Given the description of an element on the screen output the (x, y) to click on. 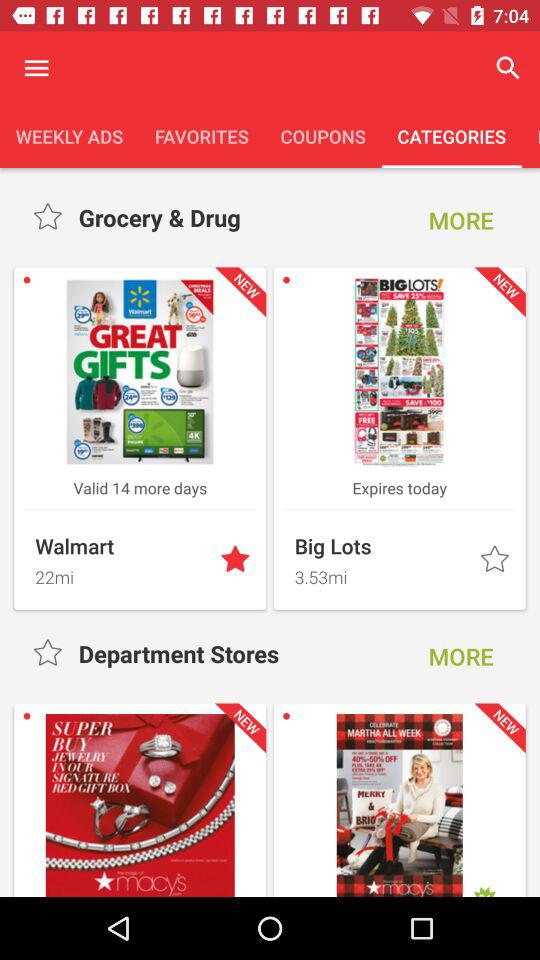
click on the star button which is next to walmart (237, 559)
click on the magnifier icon (508, 68)
click on the image below department stores (139, 805)
click on the button next to grocery  drug (460, 220)
